Given the description of an element on the screen output the (x, y) to click on. 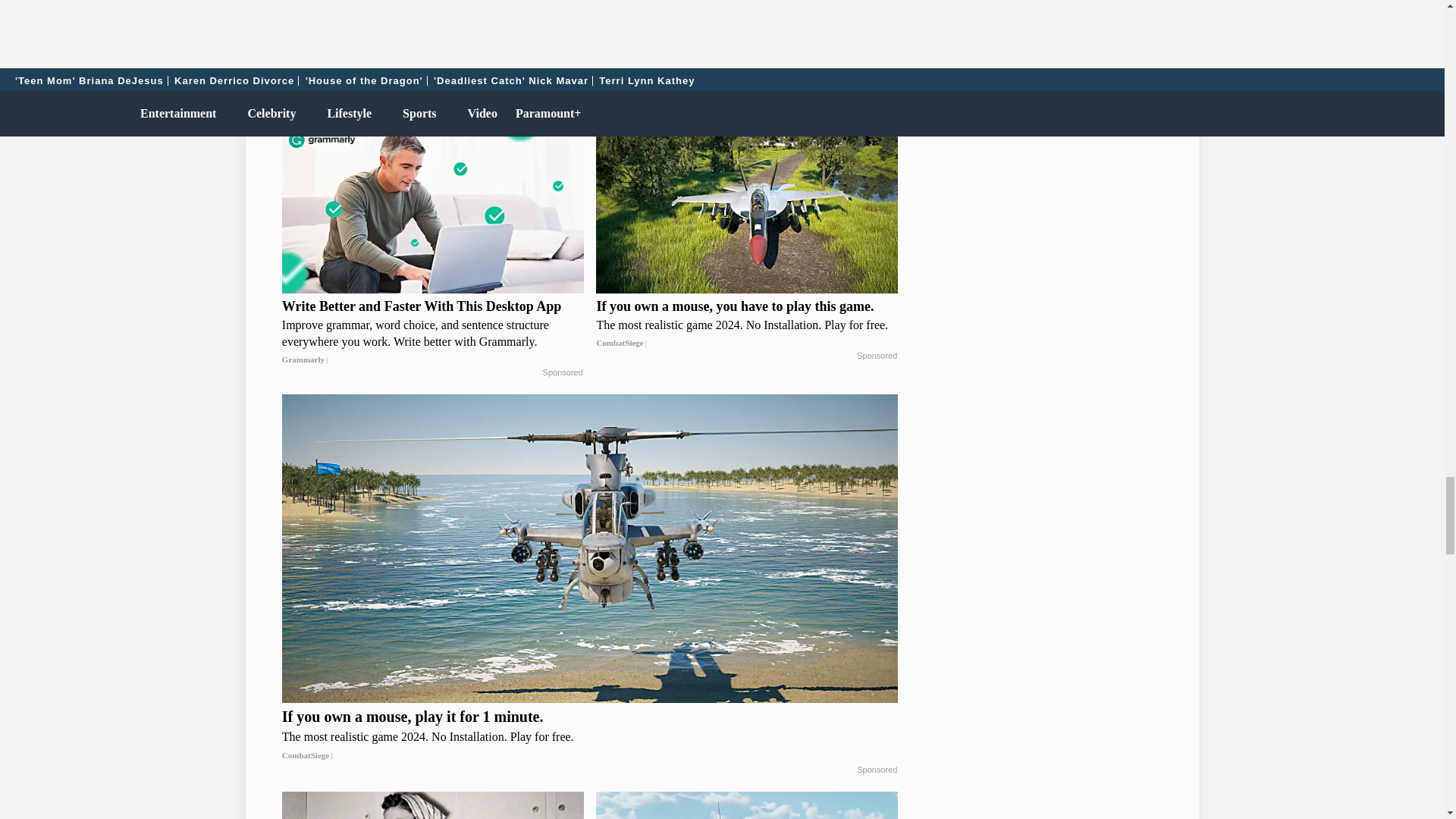
Write Better and Faster With This Desktop App (432, 332)
If you own a mouse, you have to play this game. (746, 324)
